Given the description of an element on the screen output the (x, y) to click on. 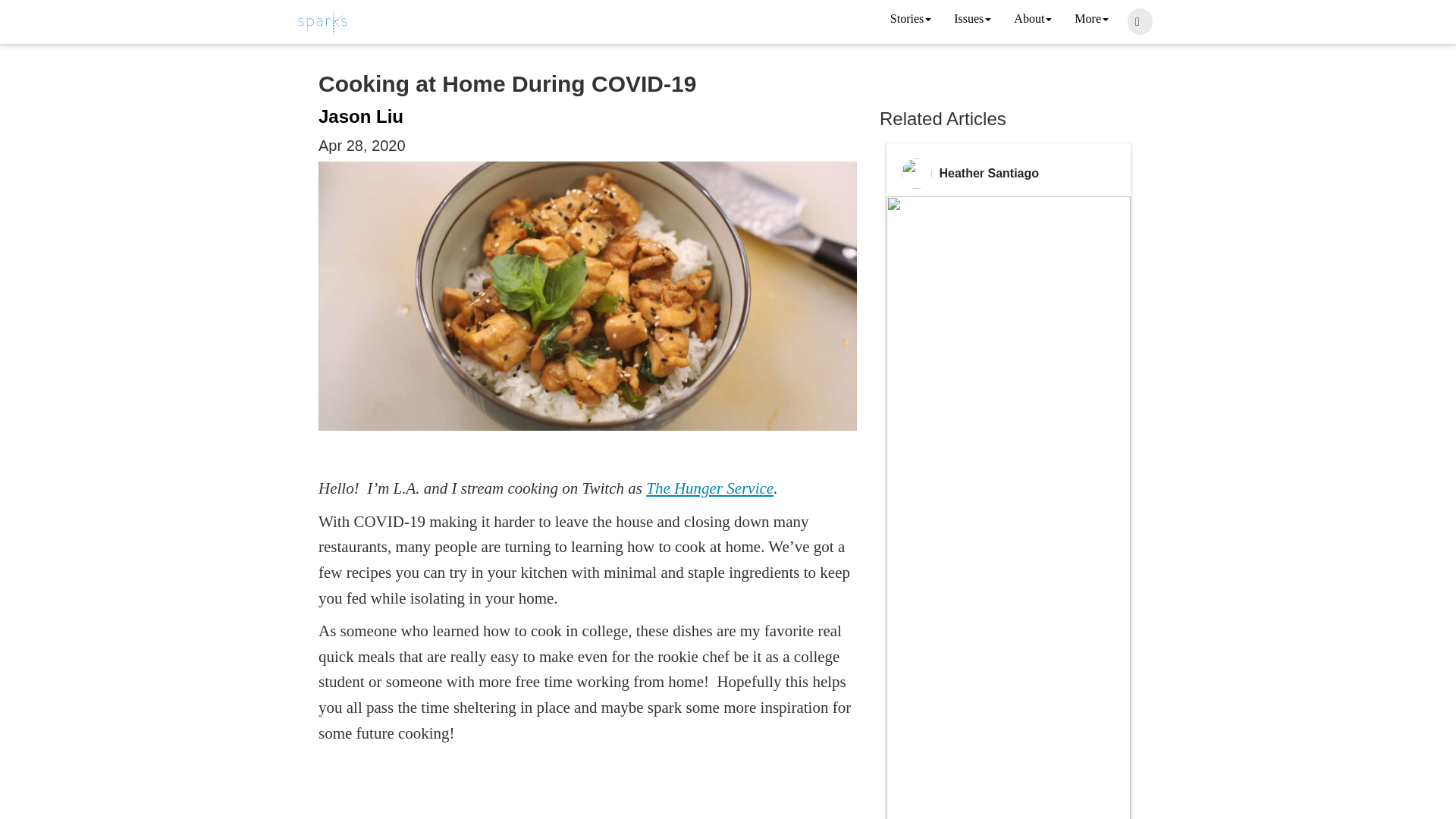
About (1032, 19)
More (1090, 19)
Heather Santiago (989, 173)
Issues (972, 19)
The Hunger Service (709, 488)
Jason Liu (360, 116)
Stories (910, 19)
